Given the description of an element on the screen output the (x, y) to click on. 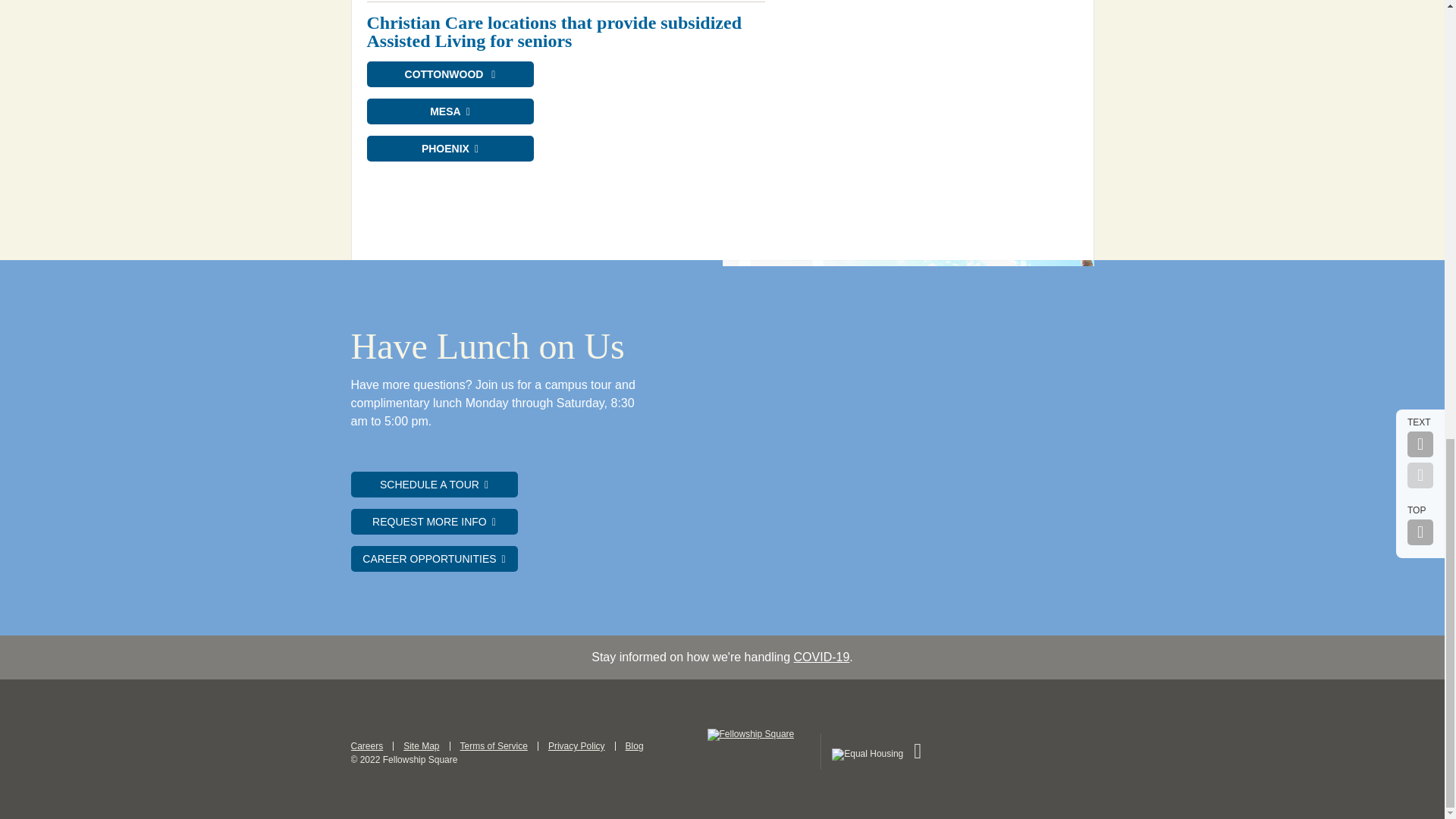
Subsidized Assisted Living (450, 73)
Request Information (433, 521)
Subsidized Assisted Living (450, 111)
COTTONWOOD  (450, 73)
Christian Care Jobs (433, 558)
Subsidized Assisted Living (450, 148)
Schedule a Tour (433, 484)
